Given the description of an element on the screen output the (x, y) to click on. 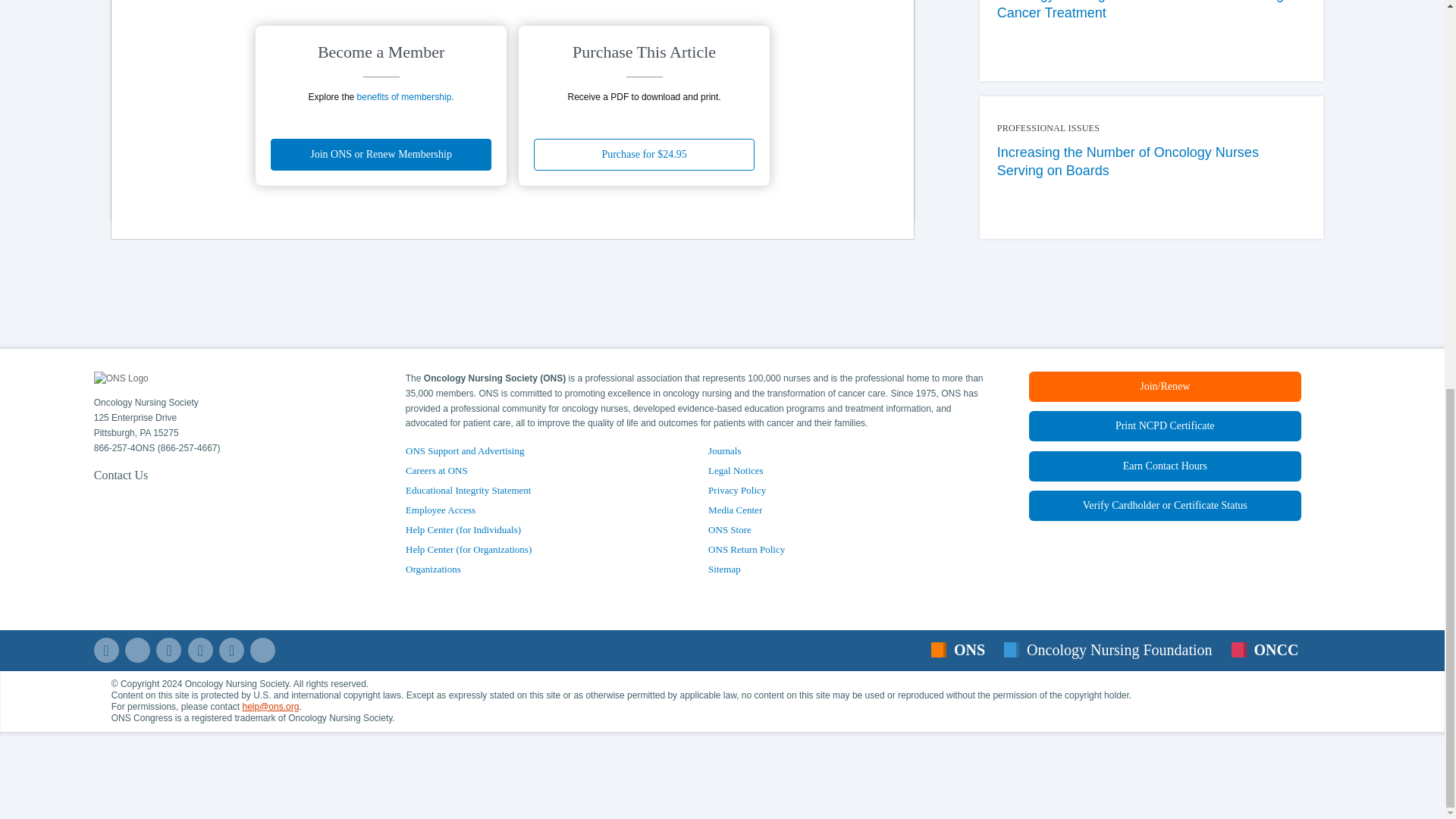
ONS Logo (121, 378)
twitter (137, 650)
Licensing Opportunities (433, 568)
facebook (106, 650)
Help Center (1165, 505)
